Given the description of an element on the screen output the (x, y) to click on. 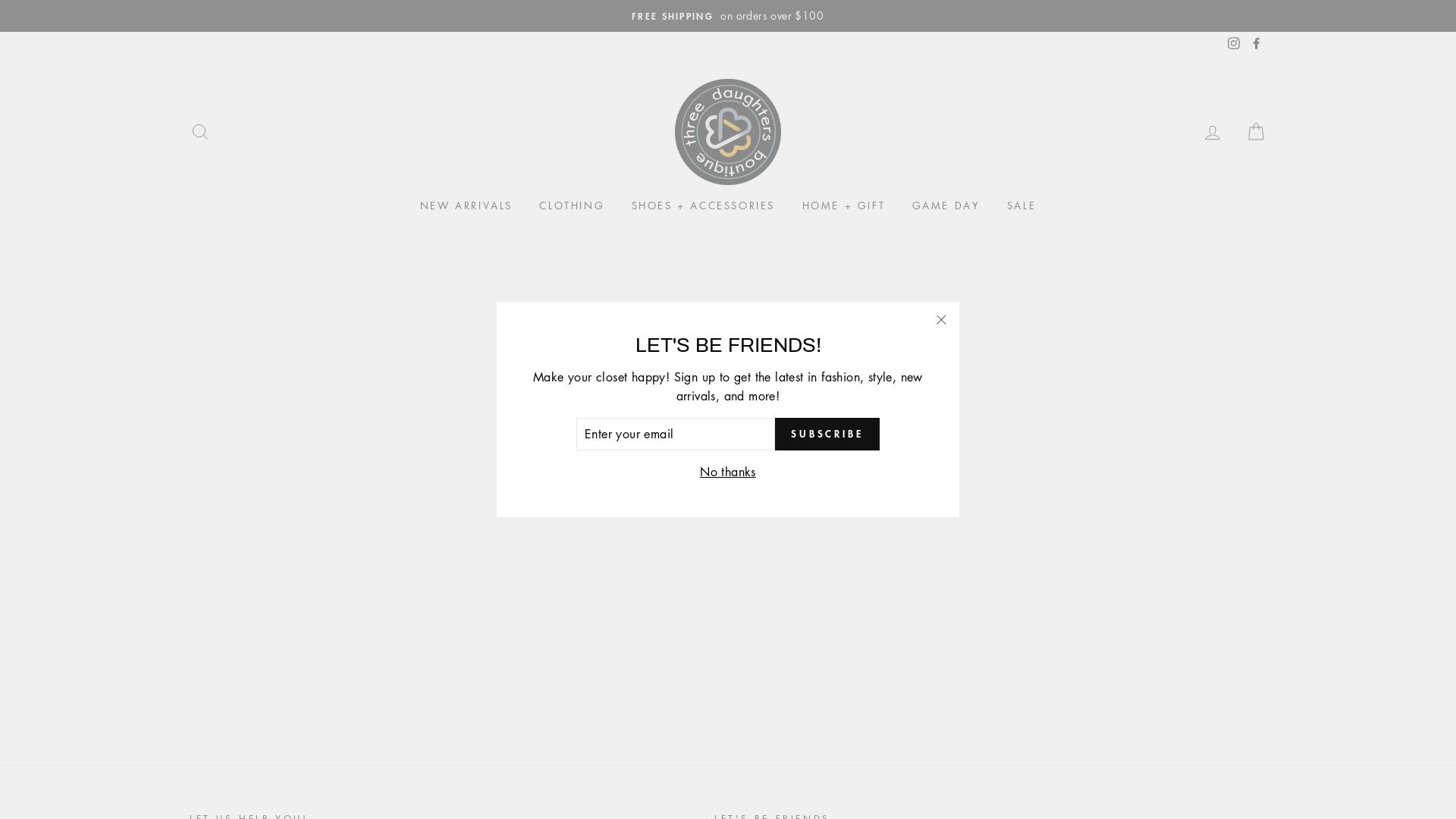
Instagram Element type: text (1233, 43)
CART Element type: text (1255, 131)
HOME + GIFT Element type: text (843, 205)
SALE Element type: text (1021, 205)
GAME DAY Element type: text (945, 205)
No thanks Element type: text (727, 472)
SHOES + ACCESSORIES Element type: text (703, 205)
SEARCH Element type: text (199, 131)
Continue shopping Element type: text (727, 425)
SUBSCRIBE Element type: text (827, 434)
NEW ARRIVALS Element type: text (466, 205)
LOG IN Element type: text (1212, 131)
"Close (esc)" Element type: text (940, 319)
CLOTHING Element type: text (571, 205)
Skip to content Element type: text (0, 0)
Facebook Element type: text (1256, 43)
